Given the description of an element on the screen output the (x, y) to click on. 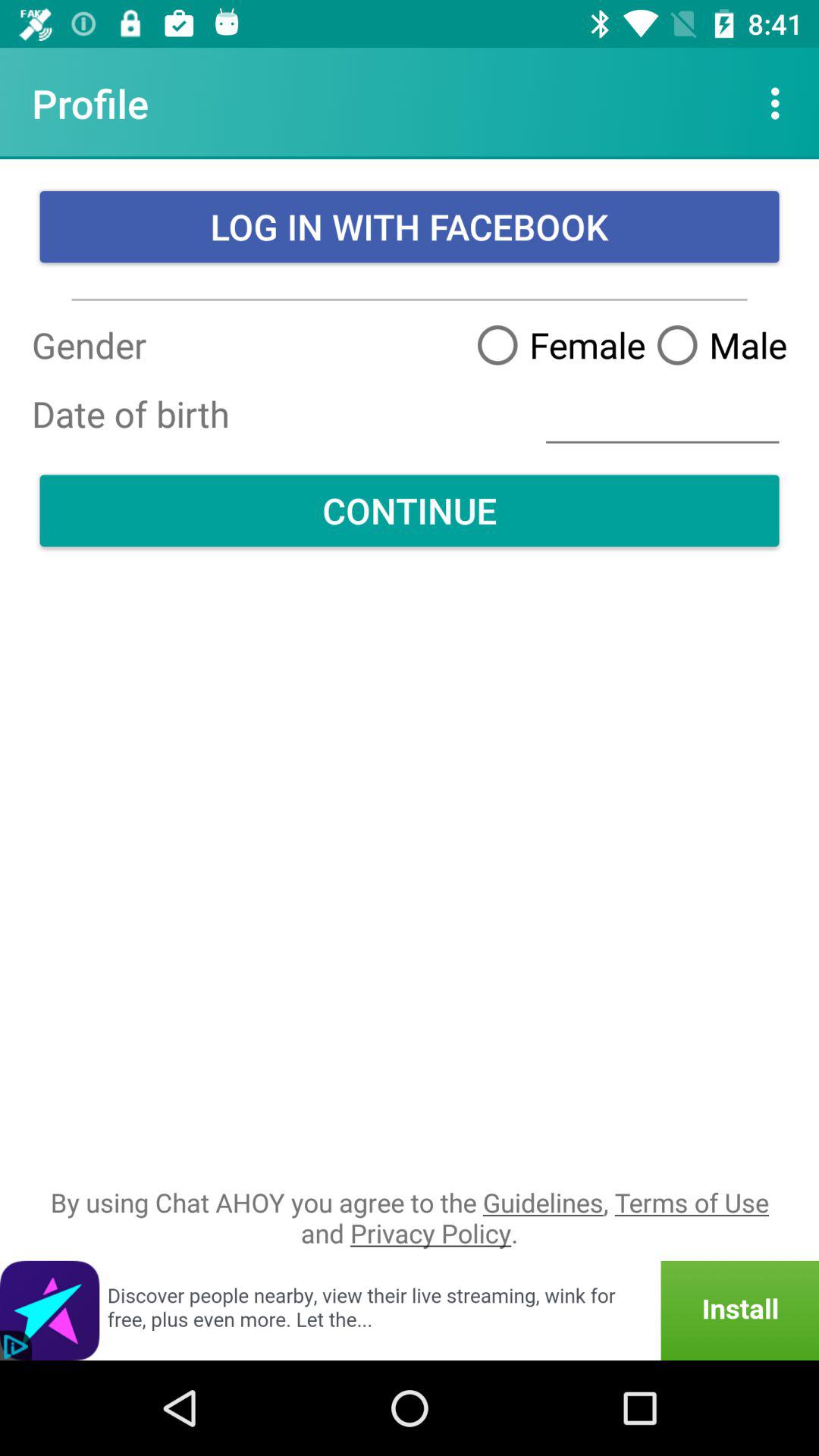
tap icon next to male item (555, 344)
